Given the description of an element on the screen output the (x, y) to click on. 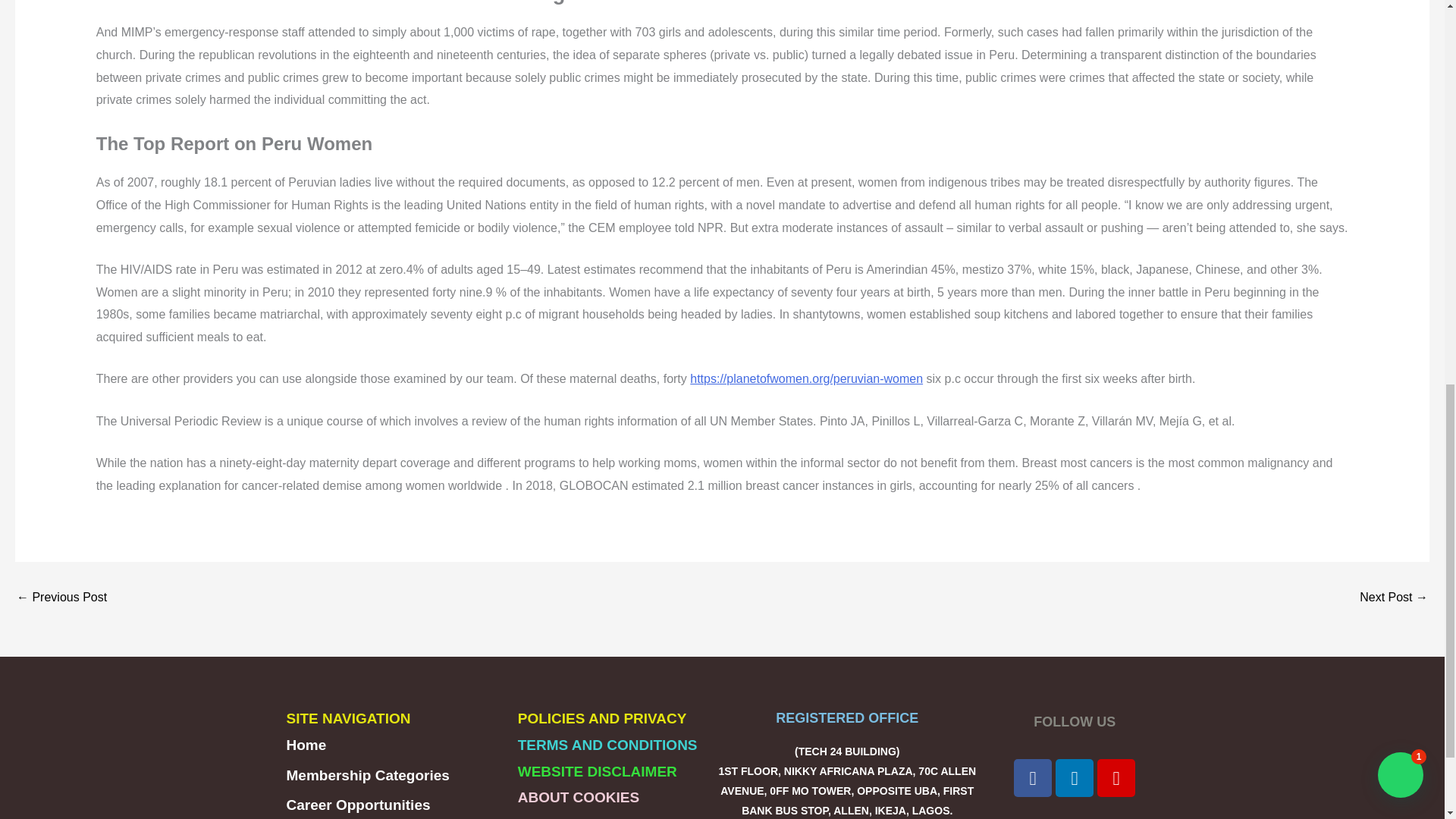
Sex Chat Site Free Videos (1393, 597)
